Given the description of an element on the screen output the (x, y) to click on. 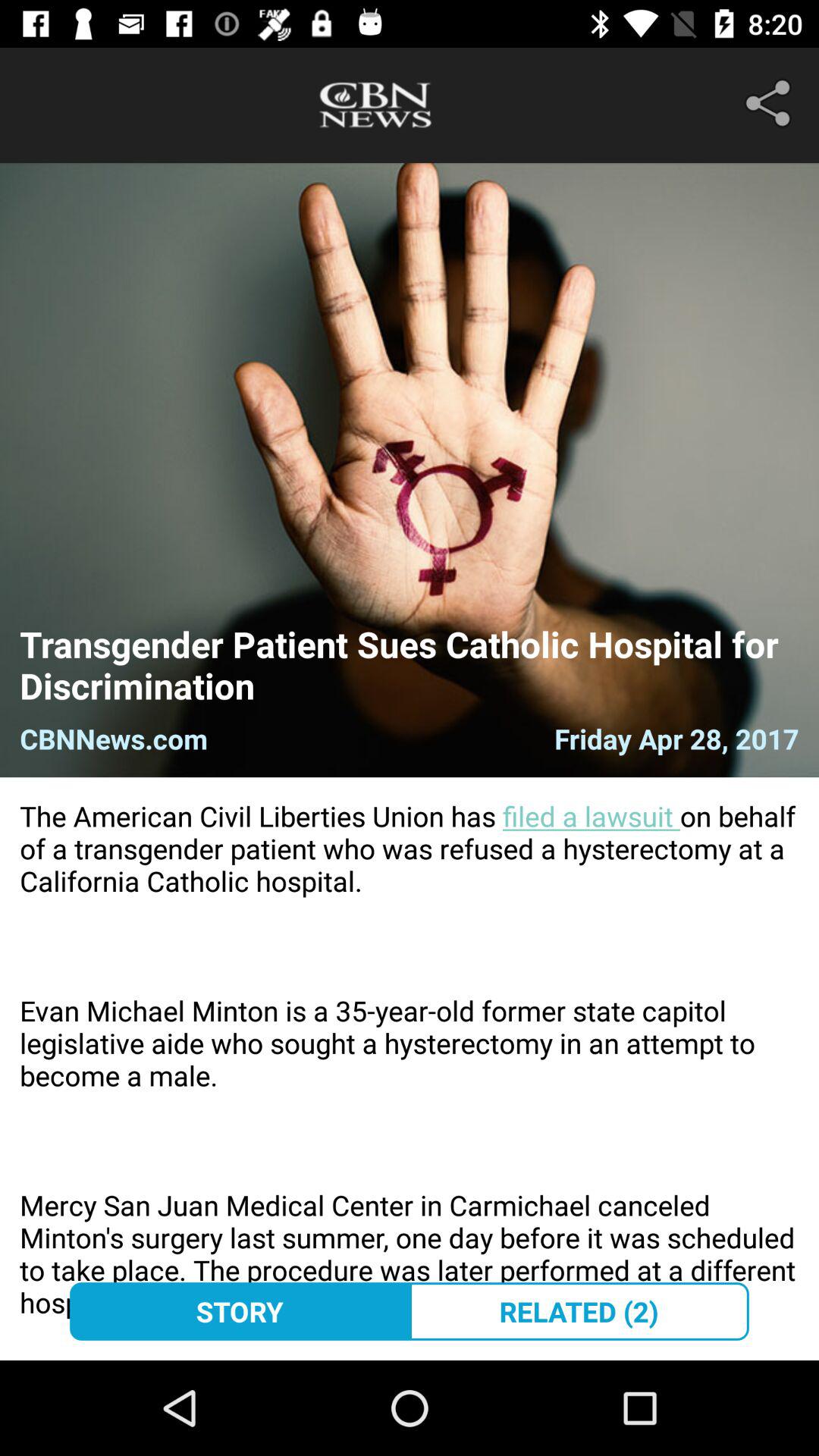
turn off the the american civil item (409, 1068)
